Given the description of an element on the screen output the (x, y) to click on. 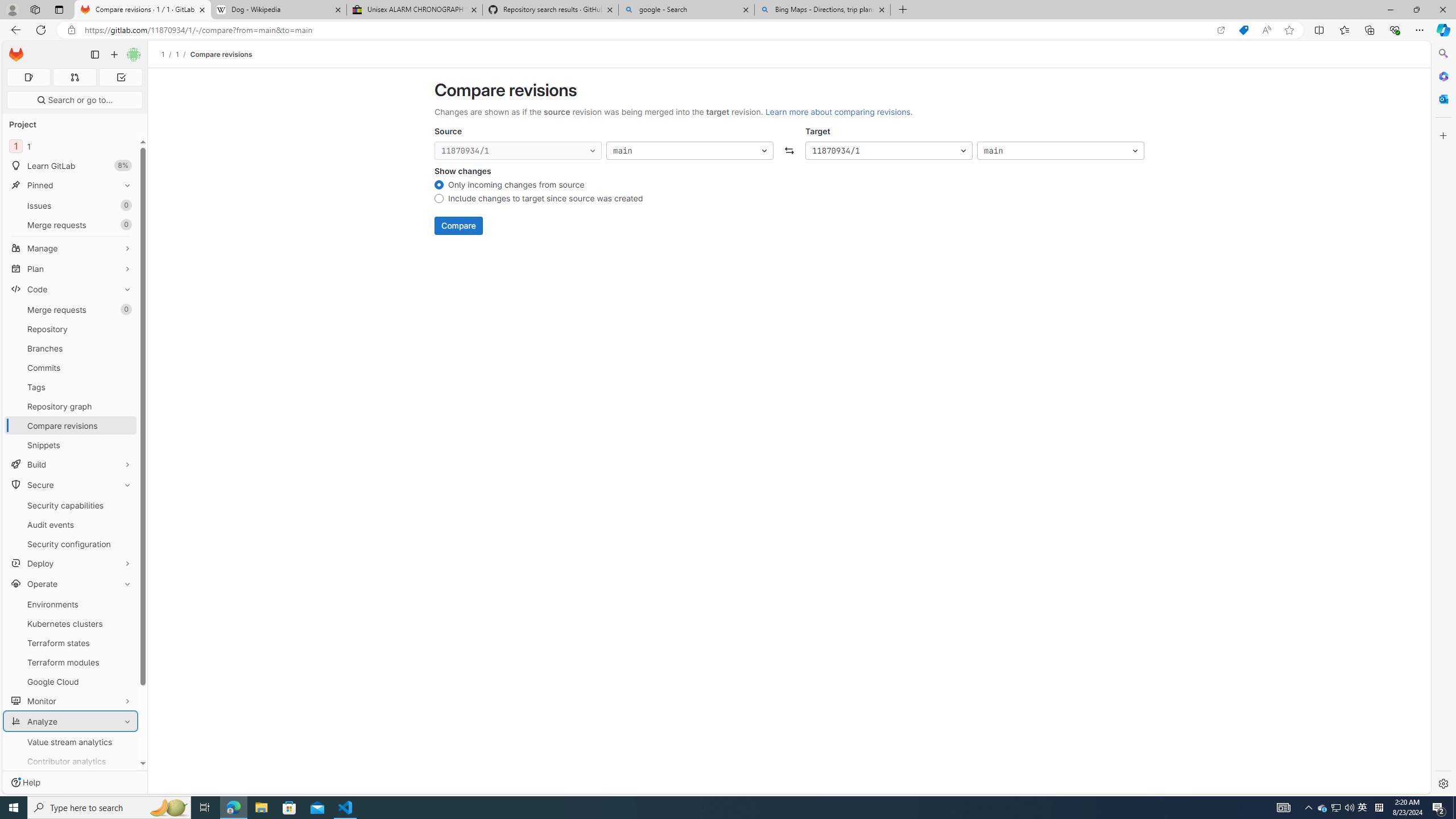
Build (70, 464)
Learn more about comparing revisions. (838, 111)
Terraform modules (70, 661)
Contributor analytics (70, 760)
CI/CD analytics (70, 780)
Issues0 (70, 205)
Google Cloud (70, 681)
Pin Audit events (124, 524)
Google Cloud (70, 681)
Pinned (70, 185)
Shopping in Microsoft Edge (1243, 29)
